Given the description of an element on the screen output the (x, y) to click on. 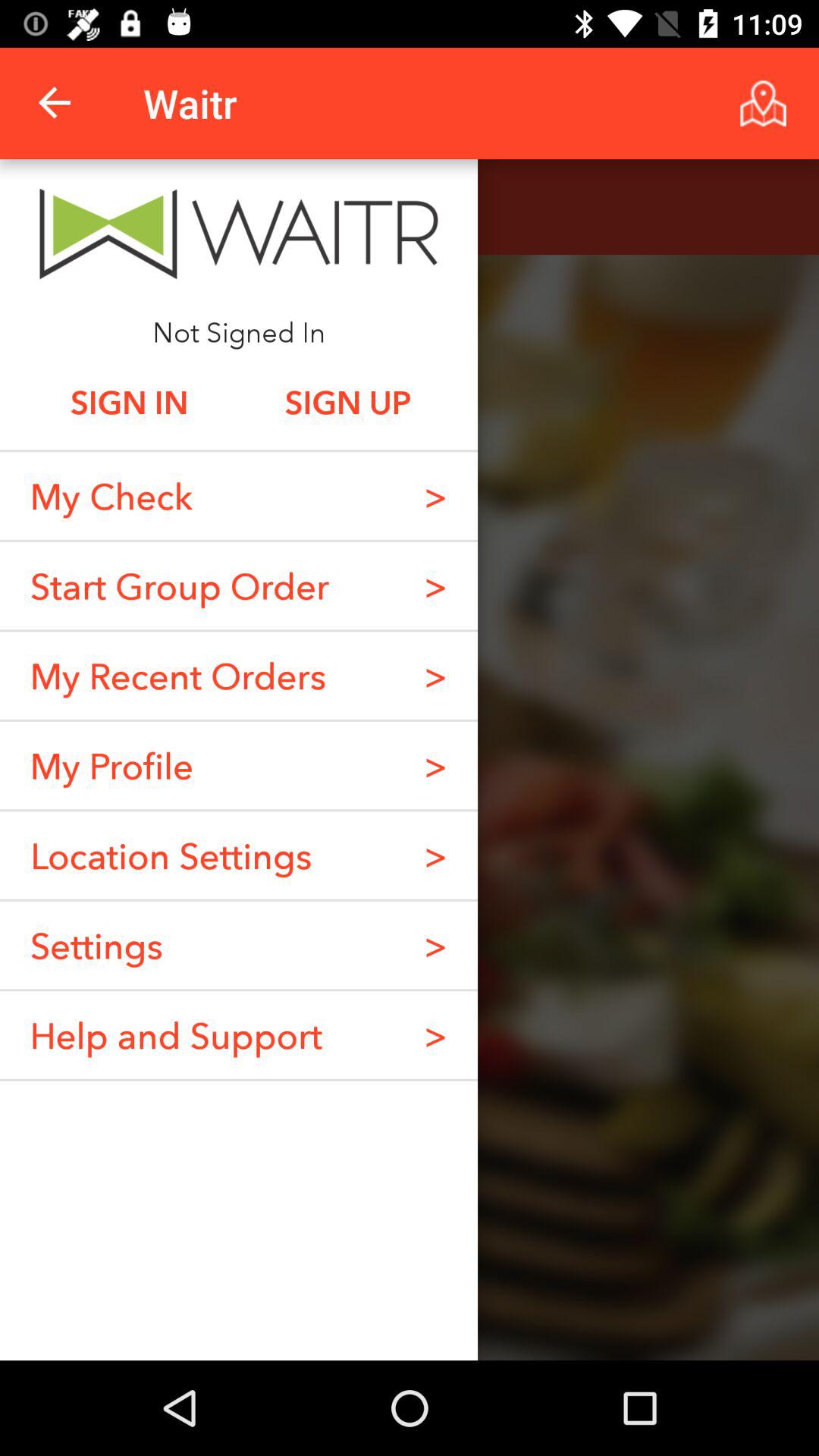
press icon above my profile icon (177, 675)
